Given the description of an element on the screen output the (x, y) to click on. 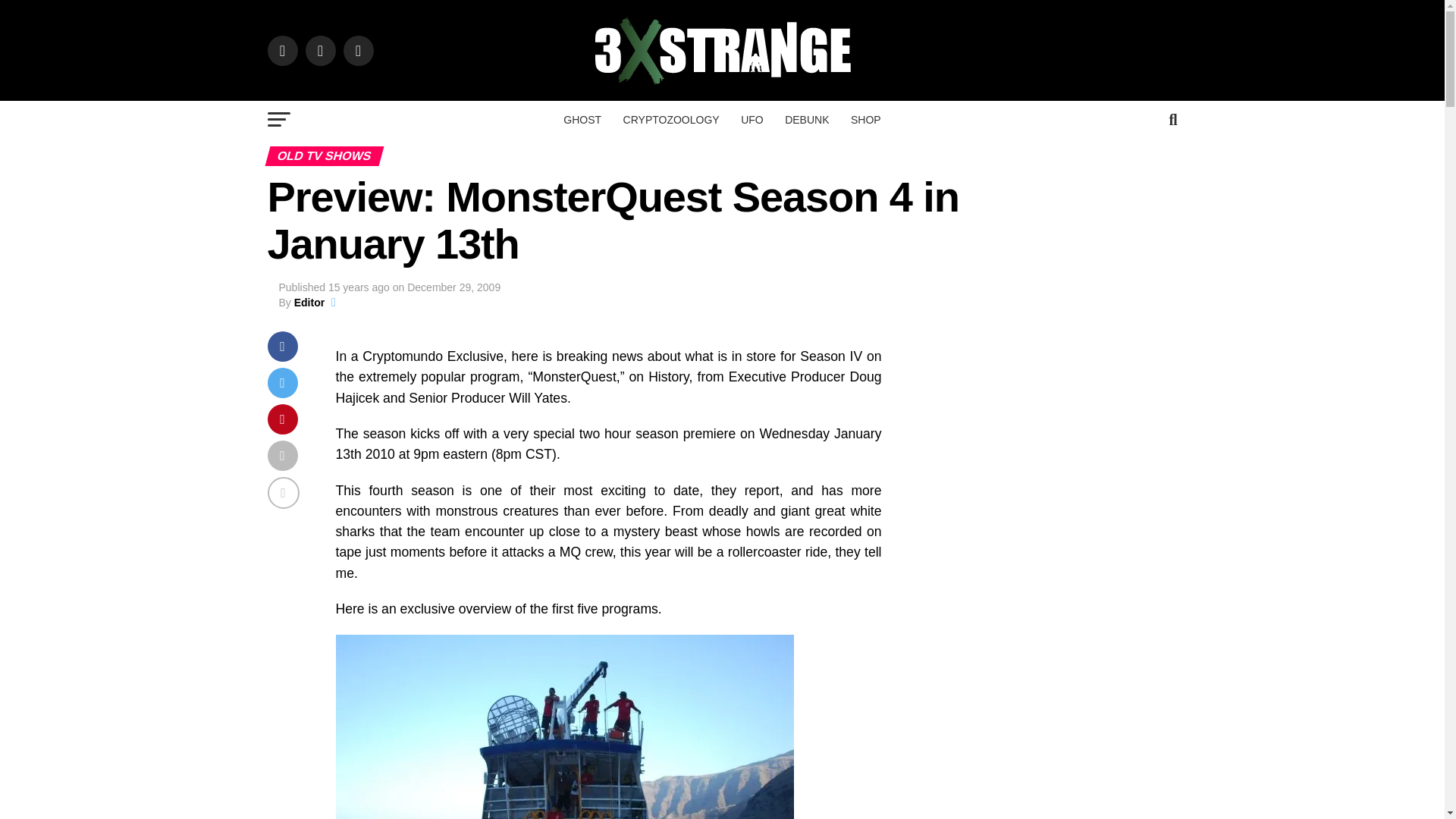
SHOP (865, 119)
Editor (309, 302)
shark-022 (563, 726)
UFO (752, 119)
CRYPTOZOOLOGY (671, 119)
GHOST (582, 119)
DEBUNK (807, 119)
Posts by Editor (309, 302)
